Given the description of an element on the screen output the (x, y) to click on. 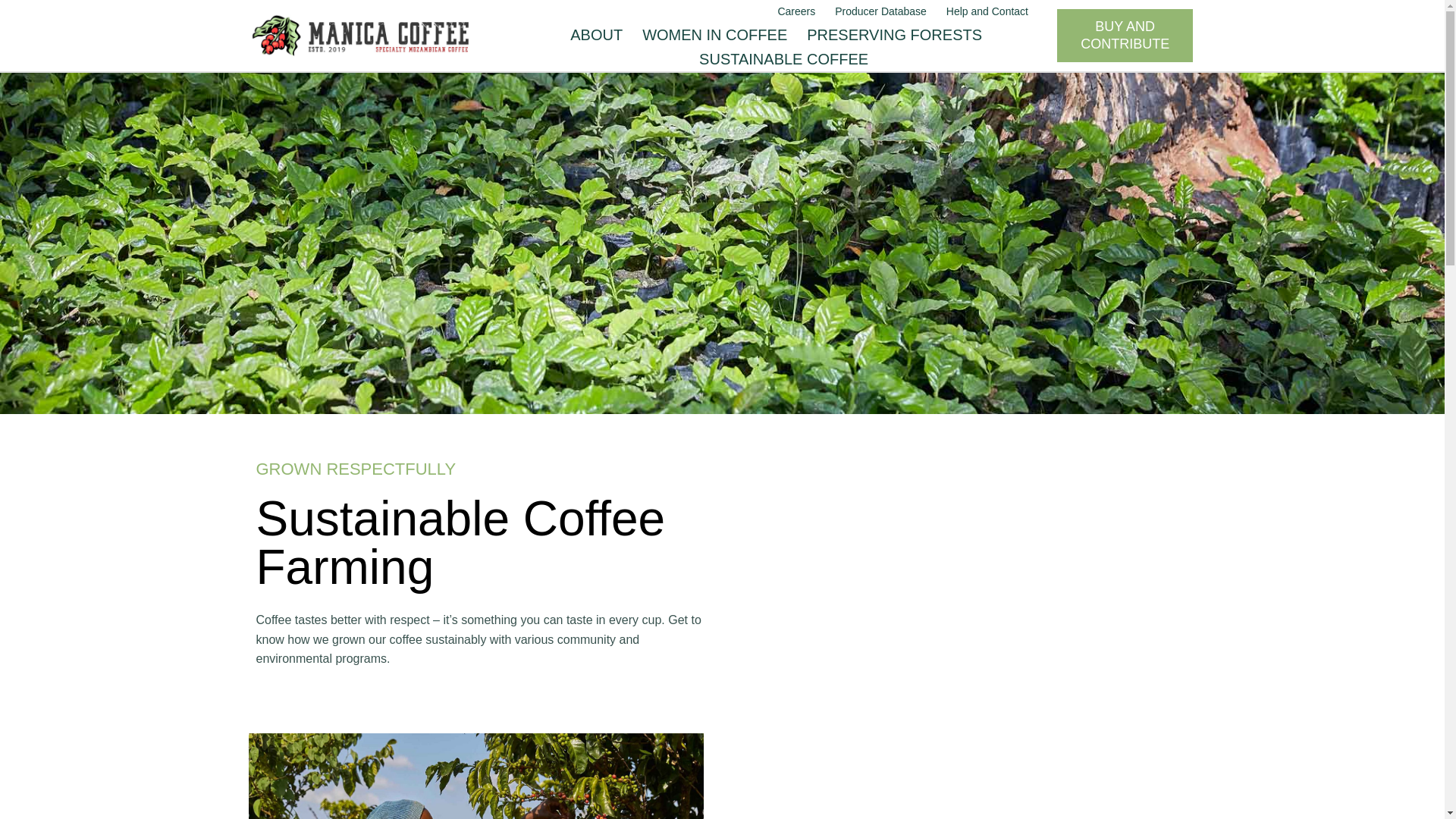
Help and Contact (986, 11)
PRESERVING FORESTS (894, 34)
SUSTAINABLE COFFEE (783, 59)
Producer Database (880, 11)
BUY AND CONTRIBUTE (1124, 36)
WOMEN IN COFFEE (714, 34)
Careers (795, 11)
ABOUT (595, 34)
